Given the description of an element on the screen output the (x, y) to click on. 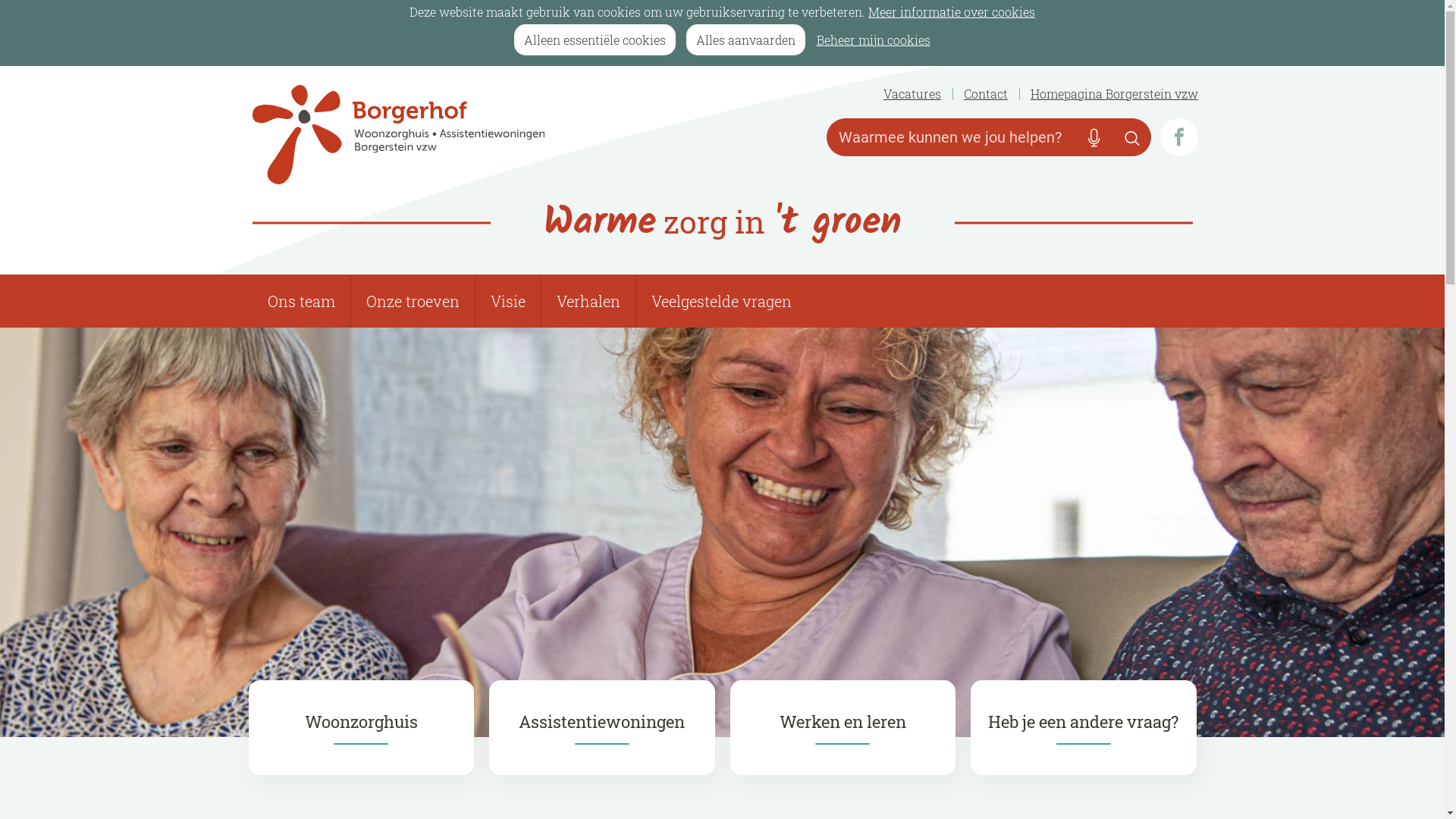
Opzoeking via microfoon activeren Element type: text (1094, 137)
Contact Element type: text (985, 93)
Vacatures Element type: text (912, 93)
Heb je een andere vraag? Element type: text (1083, 727)
Facebook Element type: text (1179, 137)
Ons team Element type: text (300, 300)
Alles aanvaarden Element type: text (744, 39)
Veelgestelde vragen Element type: text (720, 300)
Woonzorghuis Element type: text (361, 727)
Woonzorghuis Borgerhof - Woonzorgcentrum Element type: text (479, 134)
Verhalen Element type: text (588, 300)
Beheer mijn cookies Element type: text (873, 39)
Werken en leren Element type: text (842, 727)
Meer informatie over cookies Element type: text (951, 11)
Zoeken Element type: text (1132, 137)
Assistentiewoningen Element type: text (602, 727)
Homepagina Borgerstein vzw Element type: text (1114, 93)
Onze troeven Element type: text (411, 300)
Visie Element type: text (506, 300)
